Given the description of an element on the screen output the (x, y) to click on. 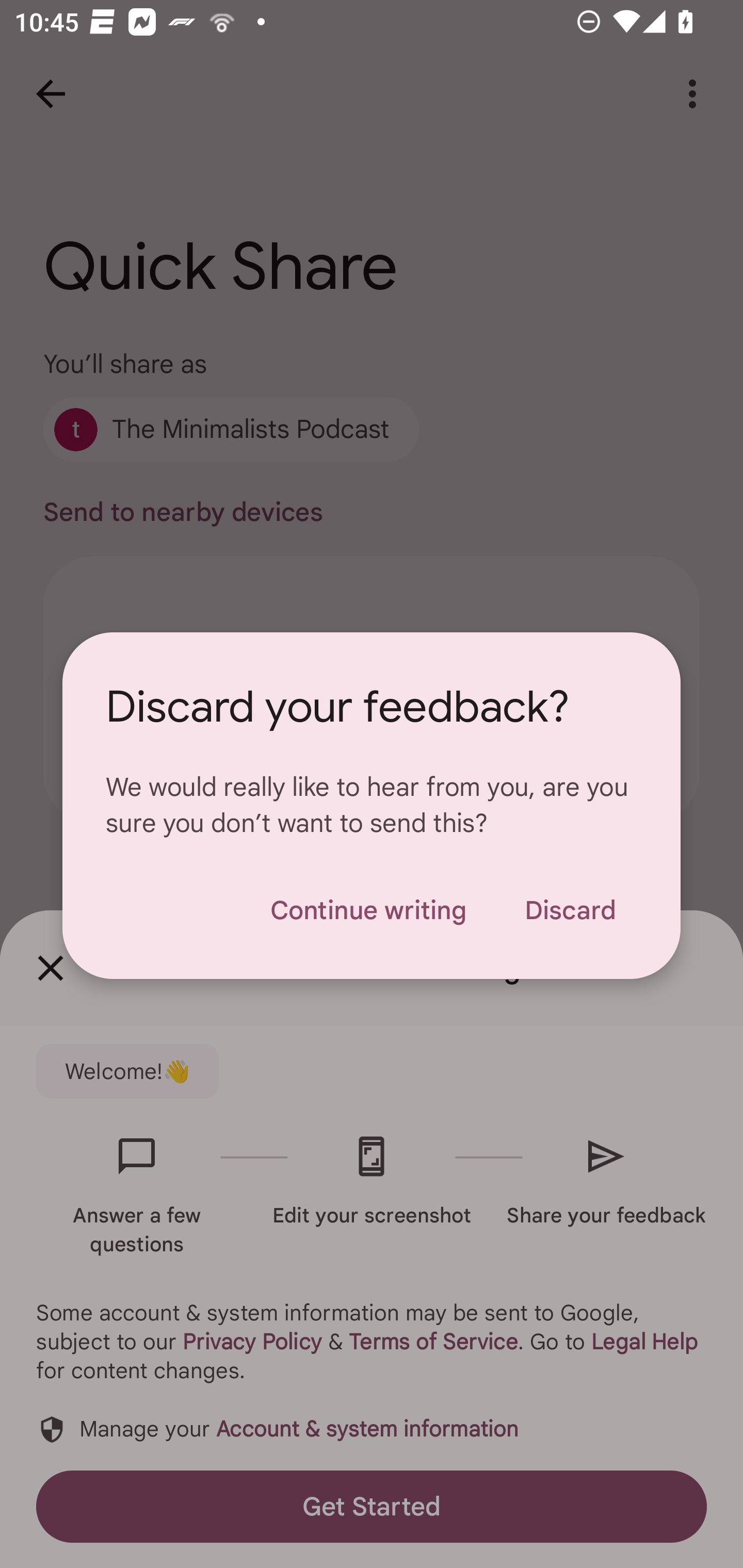
Continue writing (368, 910)
Discard (569, 910)
